Given the description of an element on the screen output the (x, y) to click on. 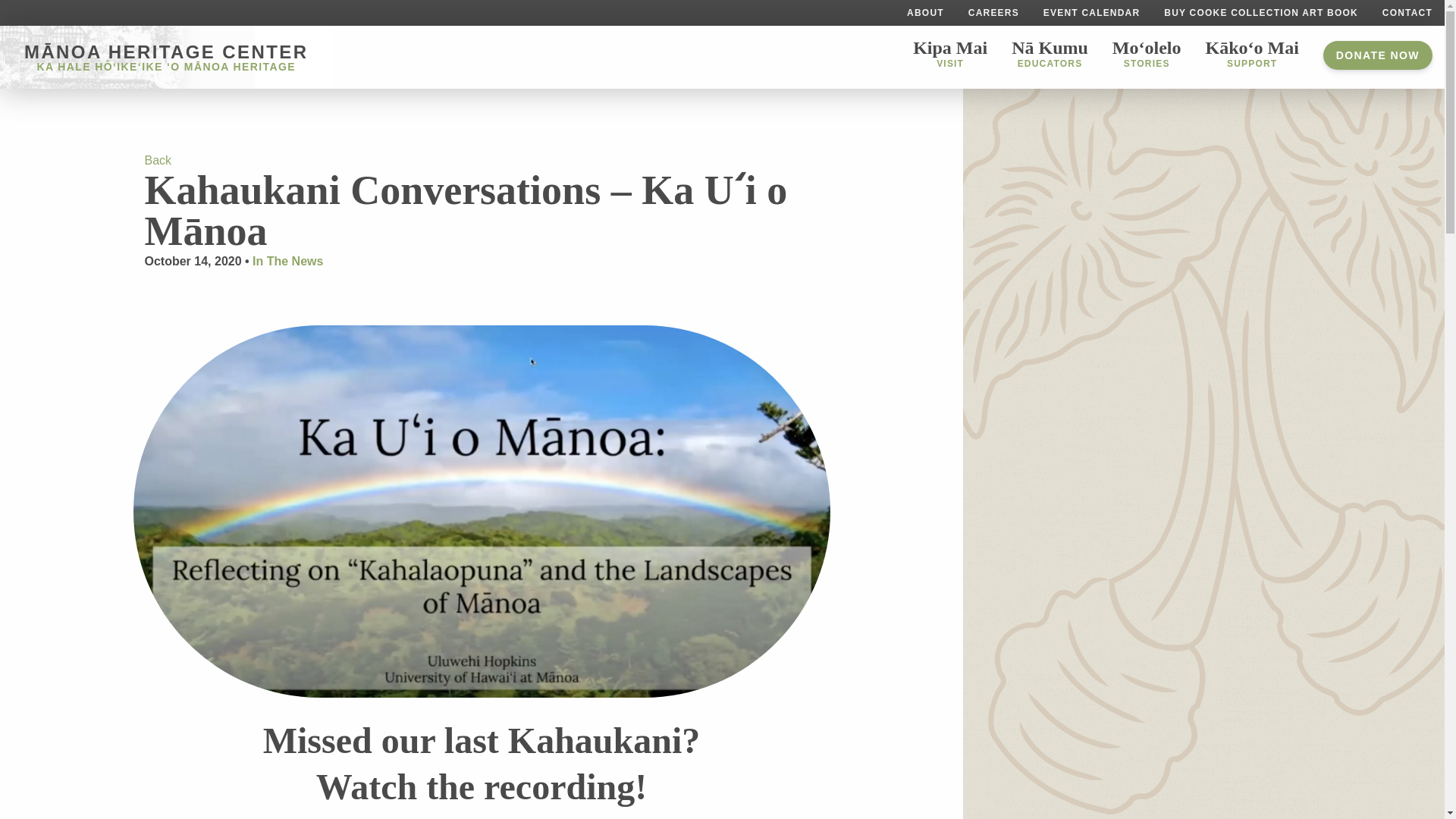
EVENT CALENDAR (1090, 12)
CAREERS (993, 12)
BUY COOKE COLLECTION ART BOOK (949, 52)
ABOUT (1260, 12)
In The News (925, 12)
